Given the description of an element on the screen output the (x, y) to click on. 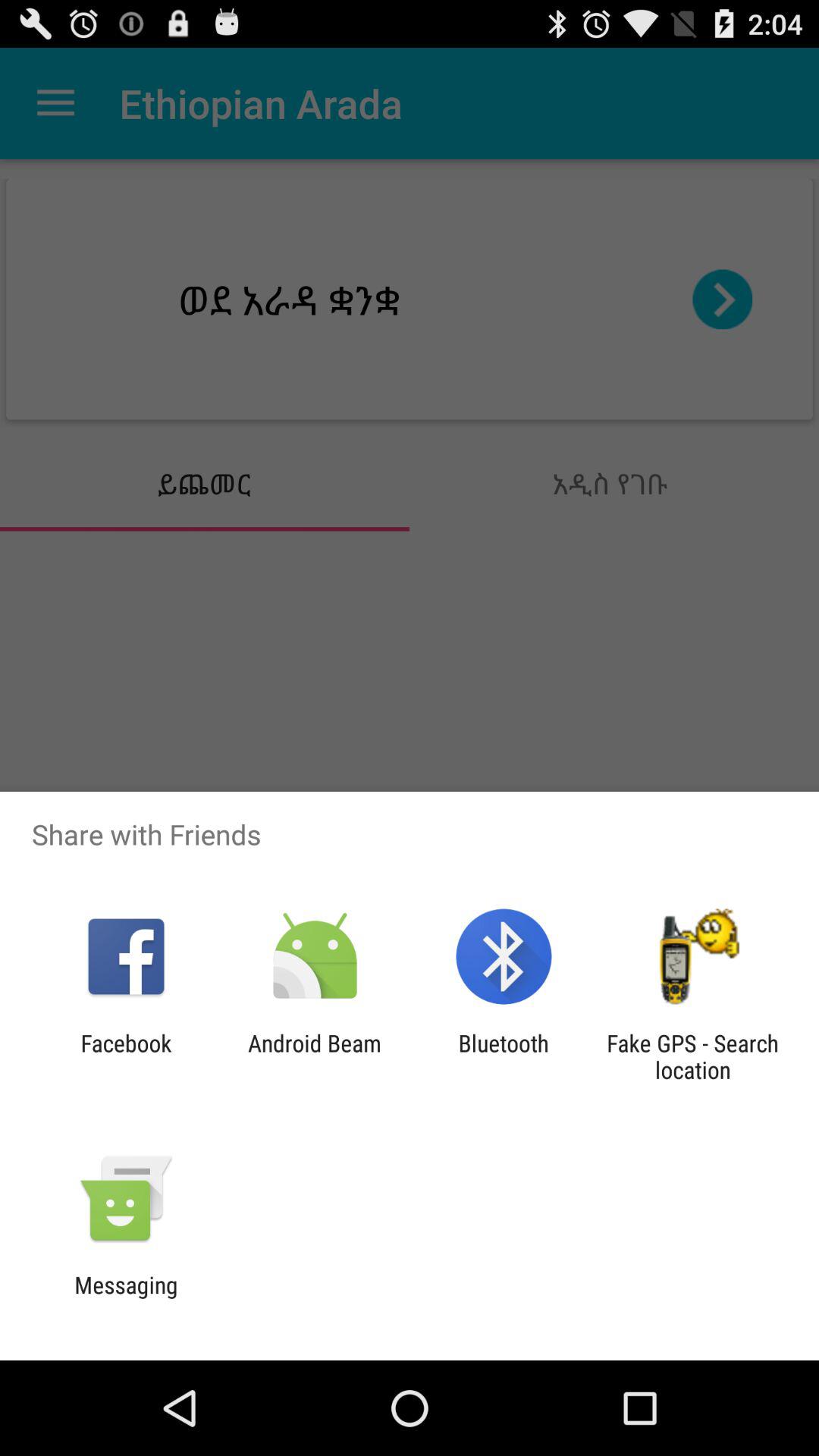
select the item to the left of android beam app (125, 1056)
